Given the description of an element on the screen output the (x, y) to click on. 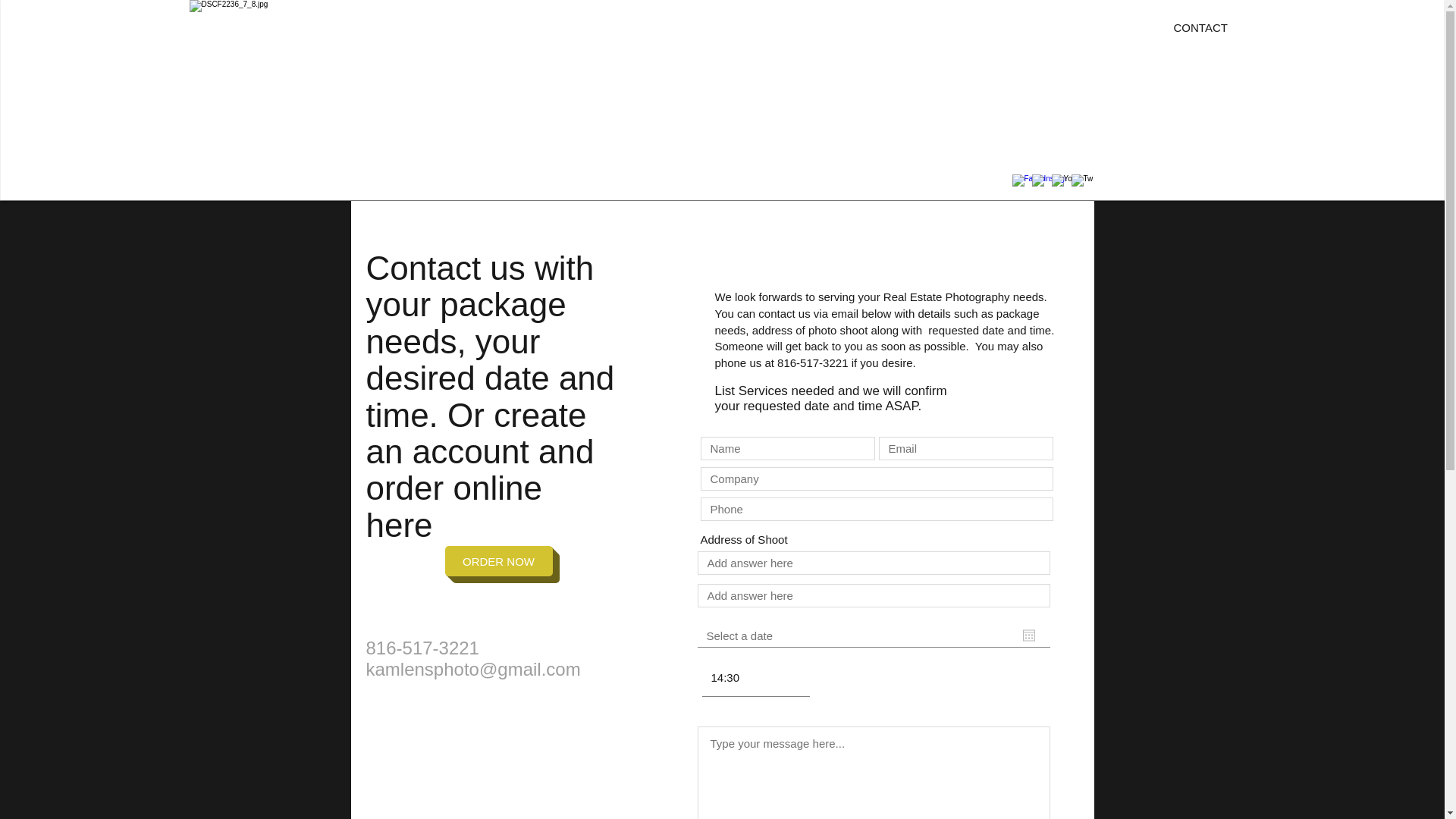
ORDER NOW (497, 561)
SERVICE PRICING (675, 27)
VIDEO TOURS (1024, 27)
AERIAL SHOTS (927, 27)
14:30 (760, 677)
HOME (593, 27)
CONTACT (1200, 27)
FLOOR PLANS (1118, 27)
